Given the description of an element on the screen output the (x, y) to click on. 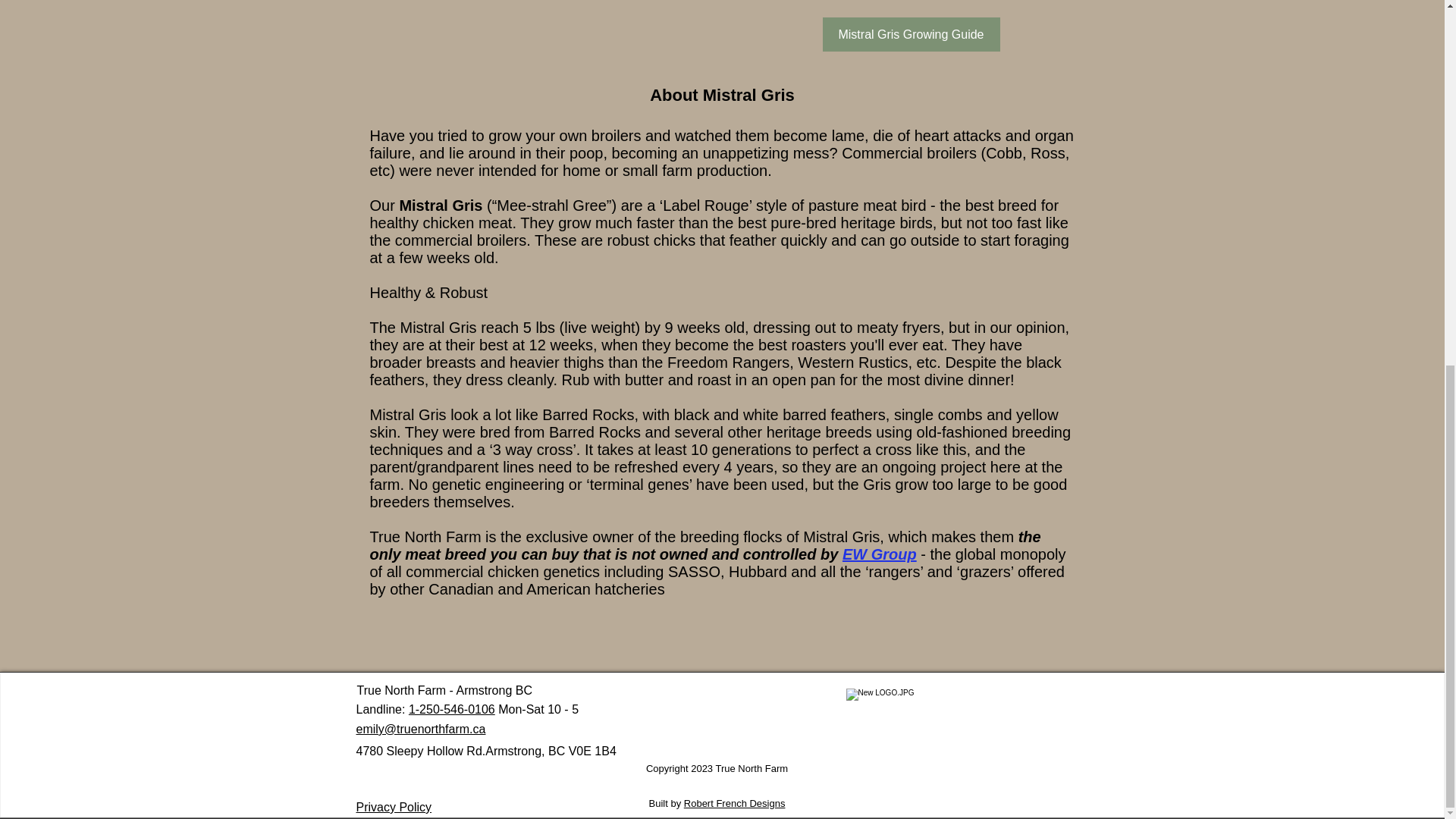
Privacy Policy (394, 807)
1-250-546-0106 (452, 708)
Robert French Designs (735, 803)
Mistral Gris Growing Guide (910, 34)
EW Group (880, 554)
